Given the description of an element on the screen output the (x, y) to click on. 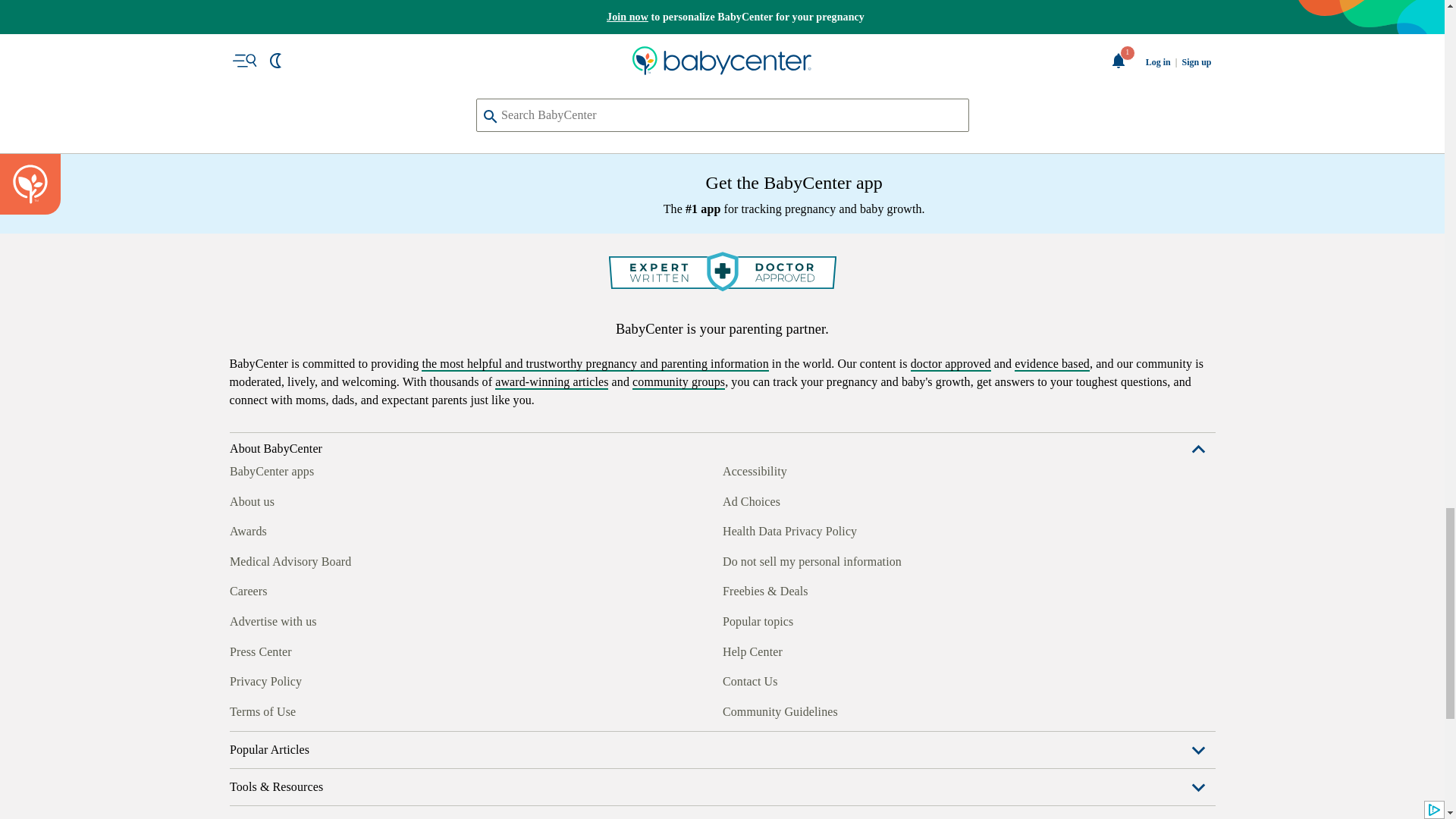
BabyCenter Pinterest board (309, 709)
BabyCenter Facebook page (239, 709)
BabyCenter Instagram feed (274, 709)
BabyCenter Twitter feed (379, 709)
BabyCenter YouTube channel (344, 709)
